Given the description of an element on the screen output the (x, y) to click on. 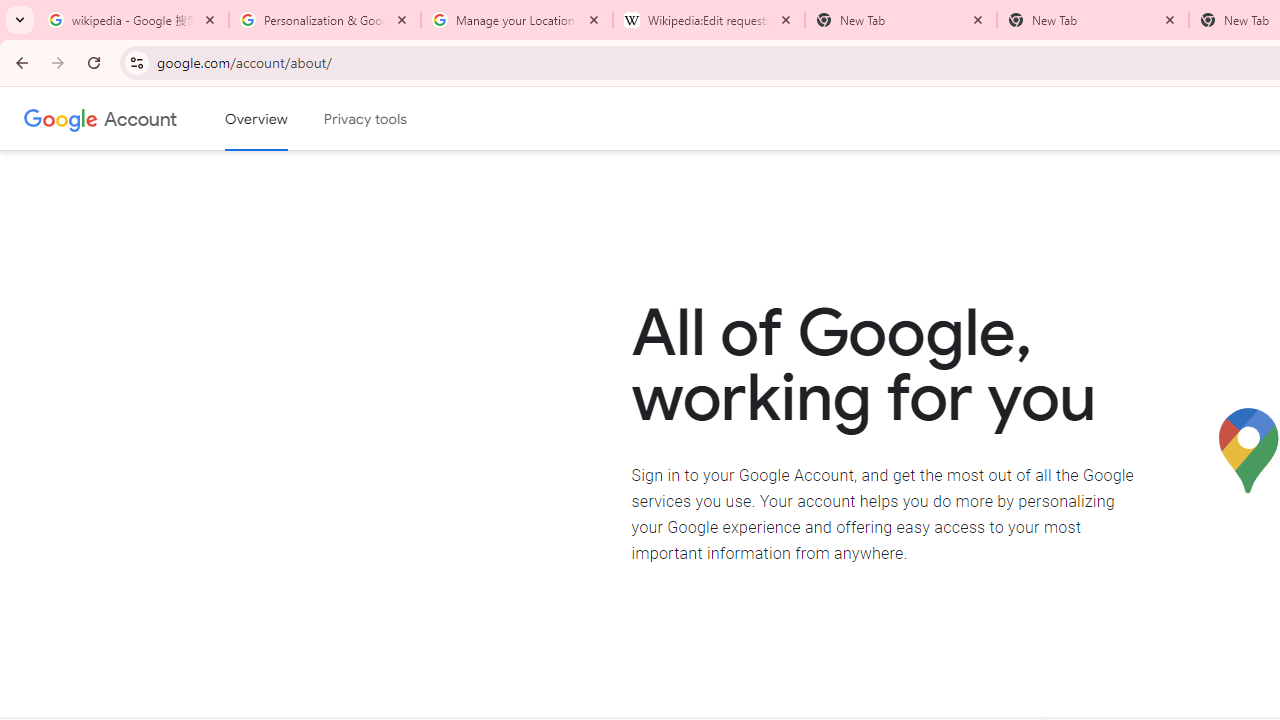
Privacy tools (365, 119)
Manage your Location History - Google Search Help (517, 20)
Personalization & Google Search results - Google Search Help (325, 20)
Google Account overview (256, 119)
Wikipedia:Edit requests - Wikipedia (709, 20)
Skip to Content (285, 115)
